Given the description of an element on the screen output the (x, y) to click on. 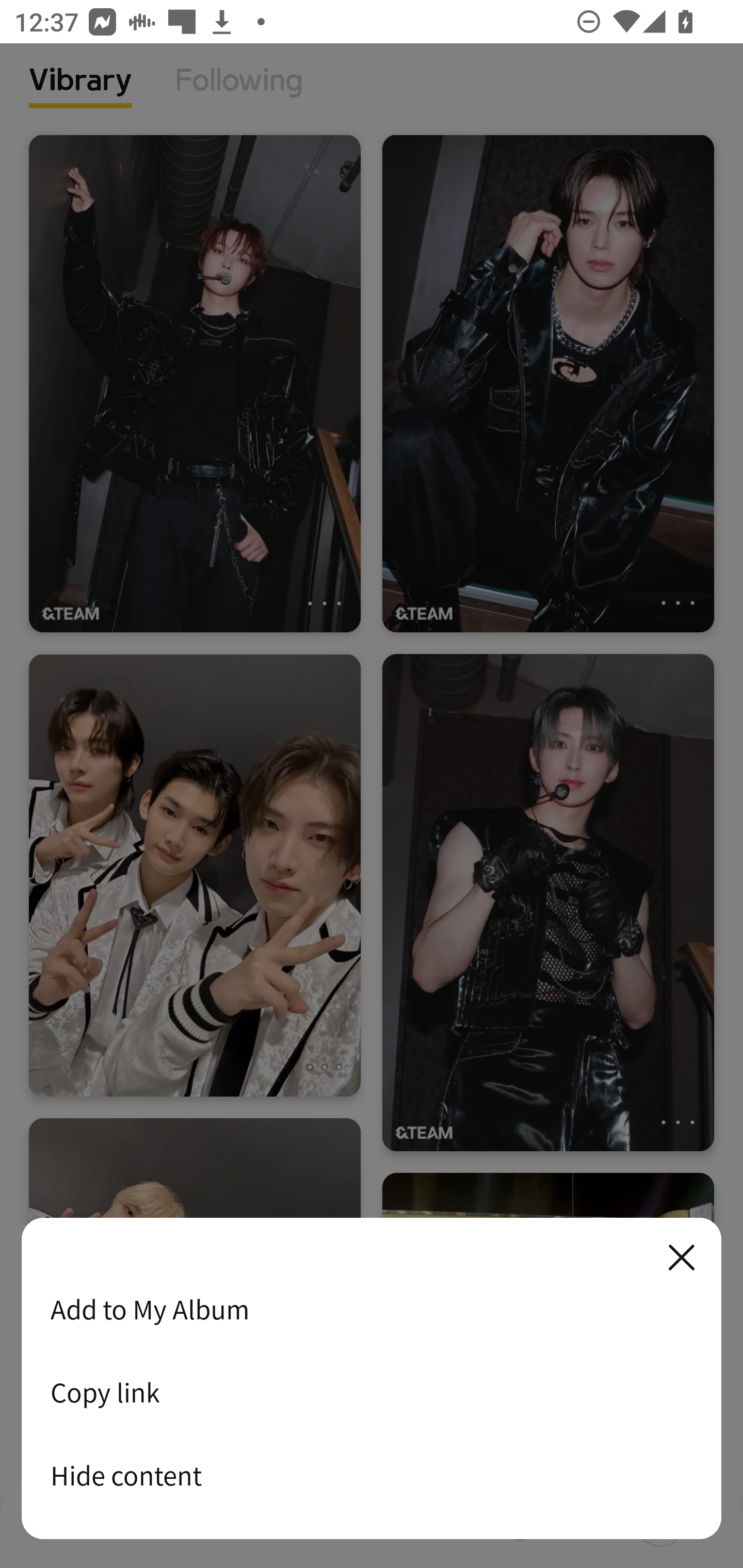
Add to My Album Copy link Hide content (371, 1378)
Add to My Album (371, 1308)
Copy link (371, 1391)
Hide content (371, 1474)
